Given the description of an element on the screen output the (x, y) to click on. 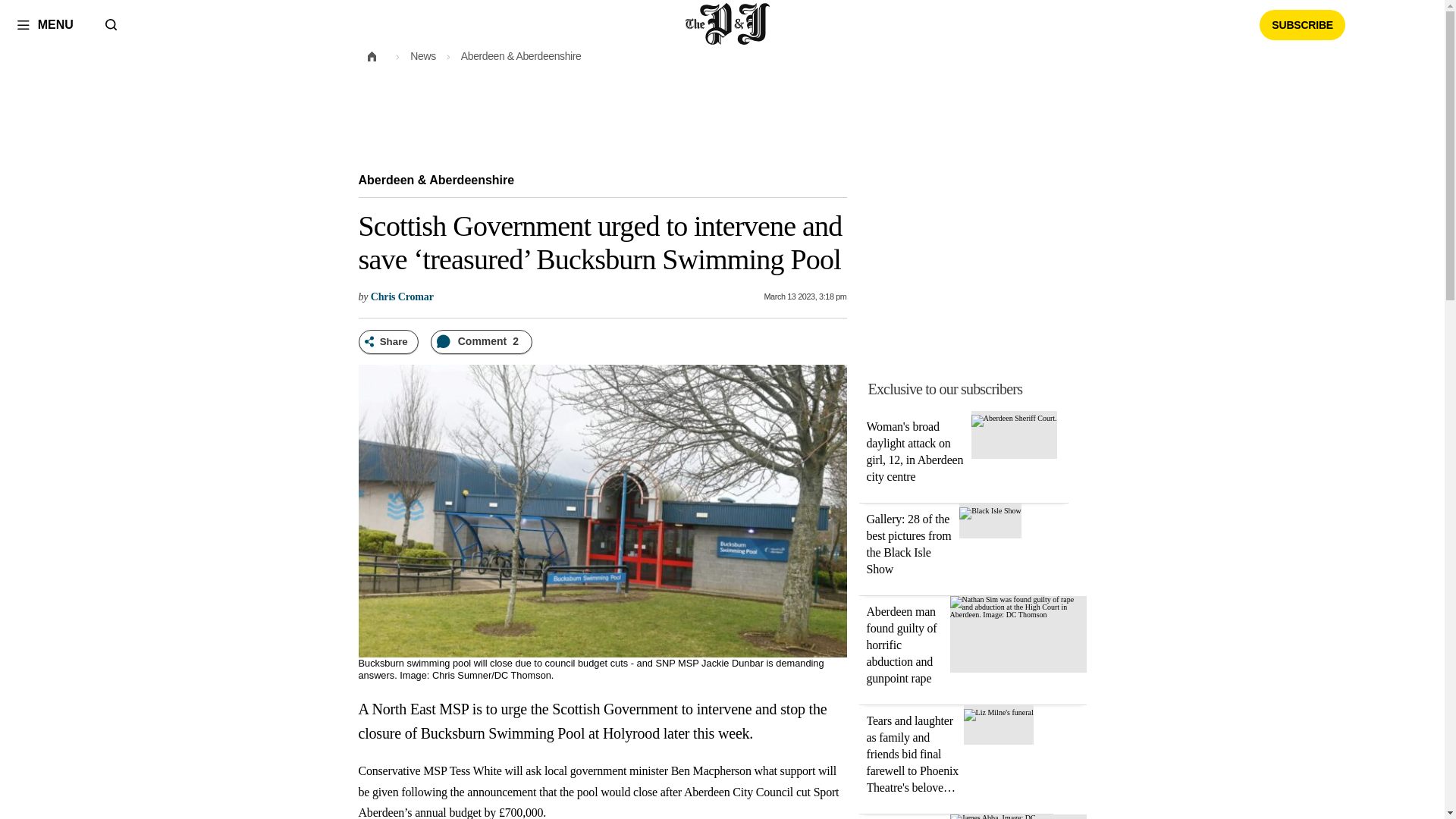
Exclusive to our subscribers (944, 389)
Gallery: 28 of the best pictures from the Black Isle Show (990, 511)
MENU (44, 24)
